Given the description of an element on the screen output the (x, y) to click on. 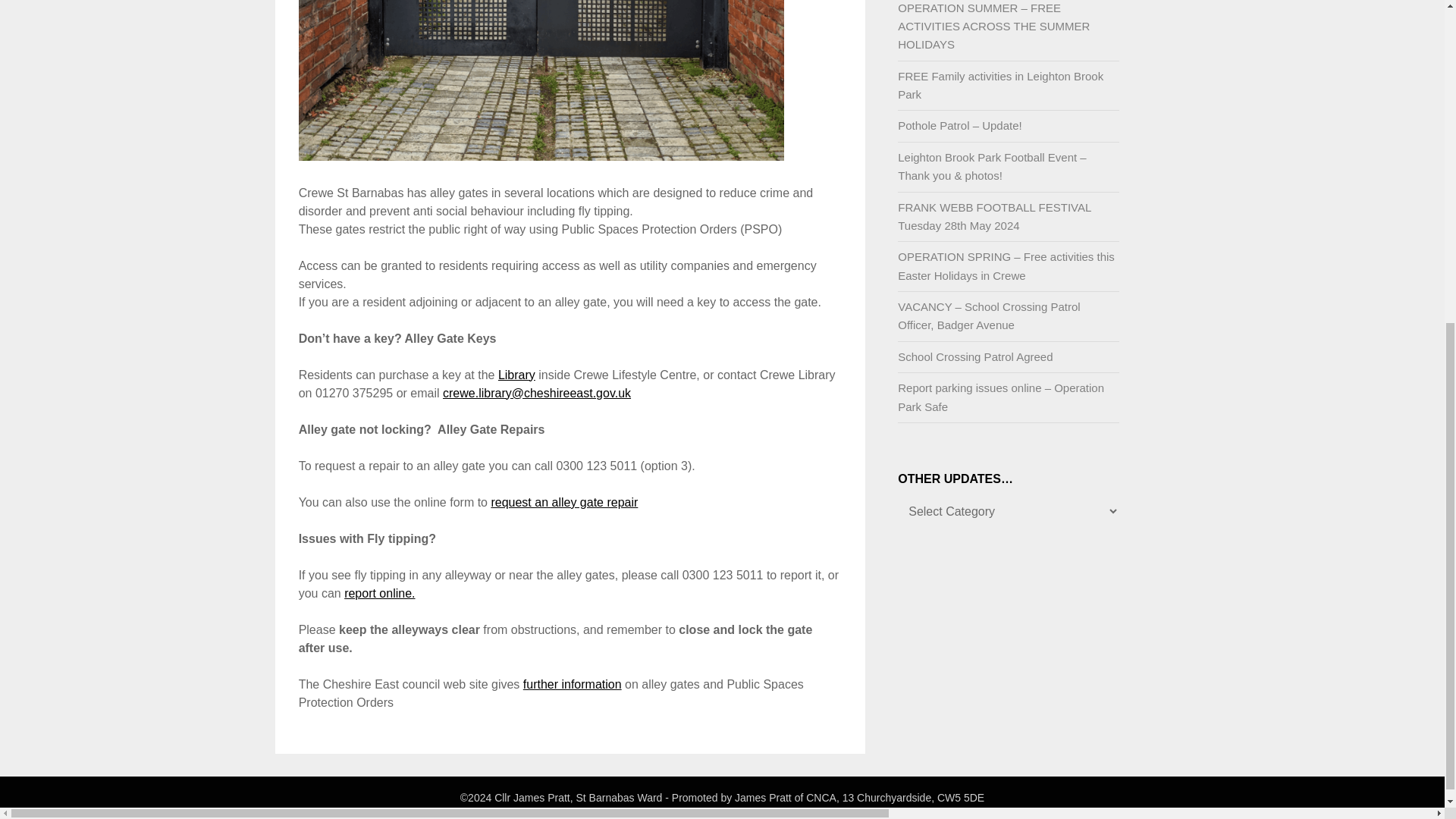
Library (516, 374)
FRANK WEBB FOOTBALL FESTIVAL Tuesday 28th May 2024 (994, 215)
further information (571, 684)
report online. (378, 593)
FREE Family activities in Leighton Brook Park (1000, 84)
request an alley gate repair (563, 502)
School Crossing Patrol Agreed (975, 356)
